Given the description of an element on the screen output the (x, y) to click on. 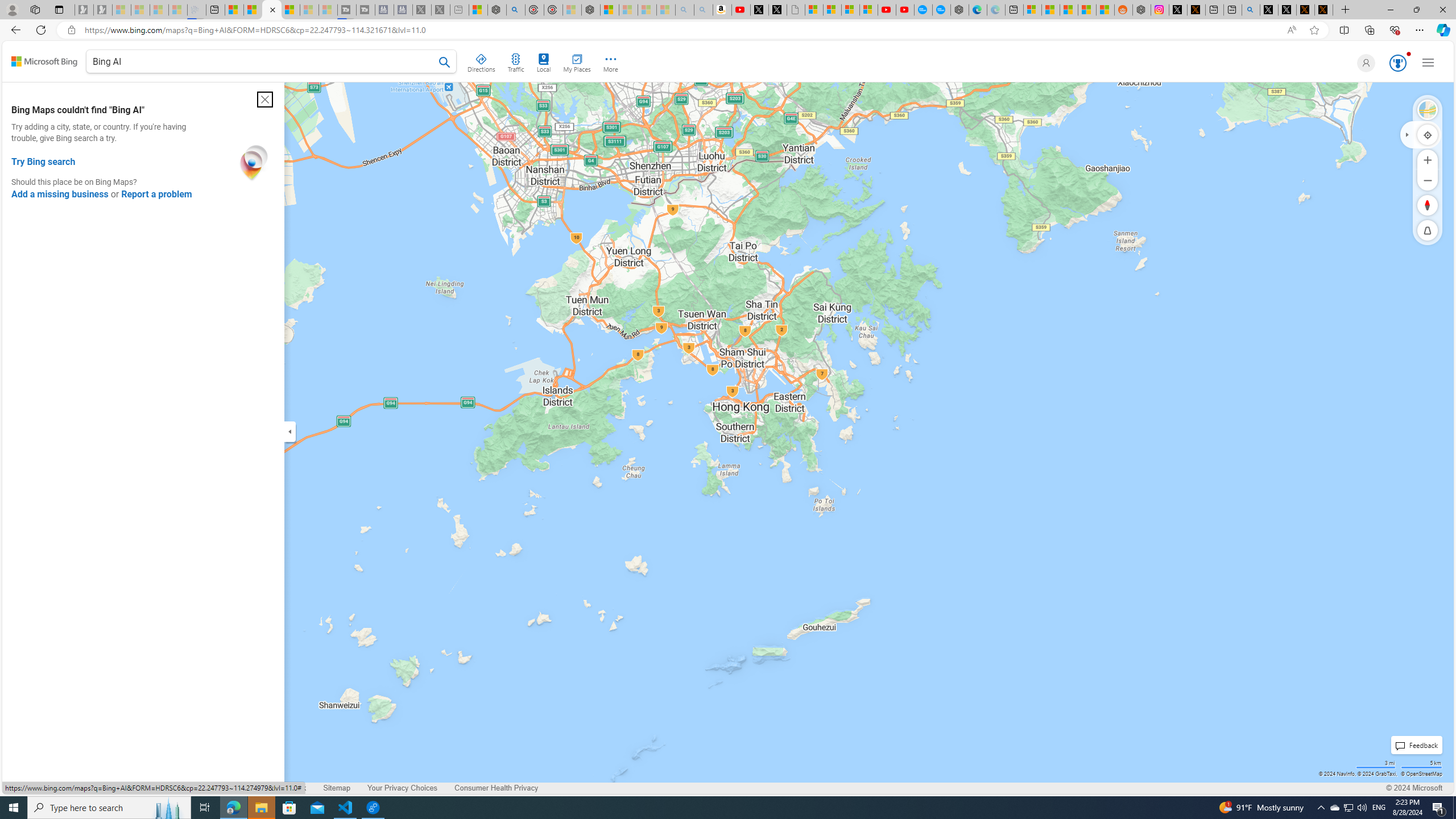
Local (543, 60)
Reset to Default Rotation (1427, 204)
Zoom In (1427, 159)
Search Bing Maps (444, 61)
